Given the description of an element on the screen output the (x, y) to click on. 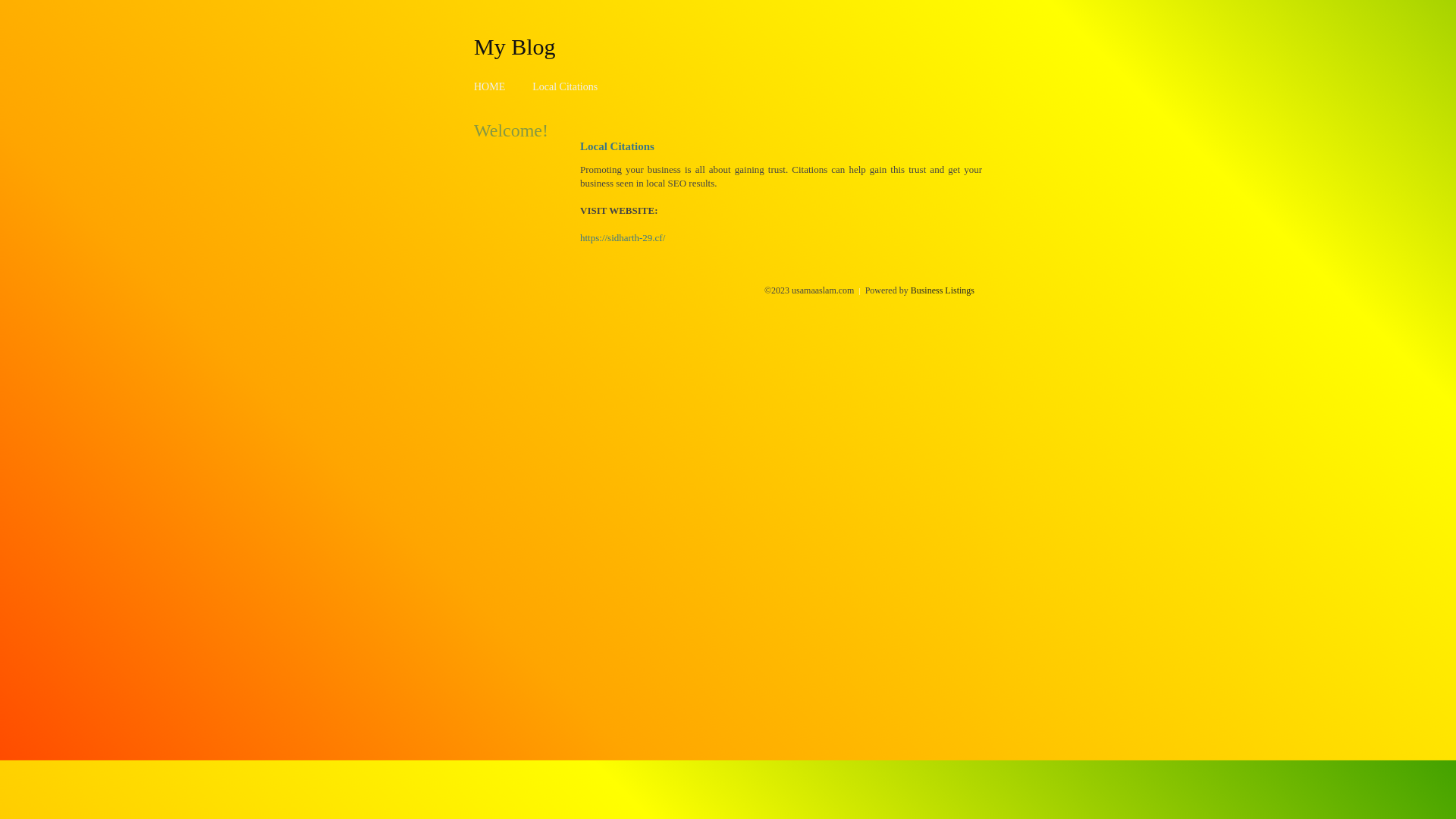
My Blog Element type: text (514, 46)
https://sidharth-29.cf/ Element type: text (622, 237)
Business Listings Element type: text (942, 290)
HOME Element type: text (489, 86)
Local Citations Element type: text (564, 86)
